Given the description of an element on the screen output the (x, y) to click on. 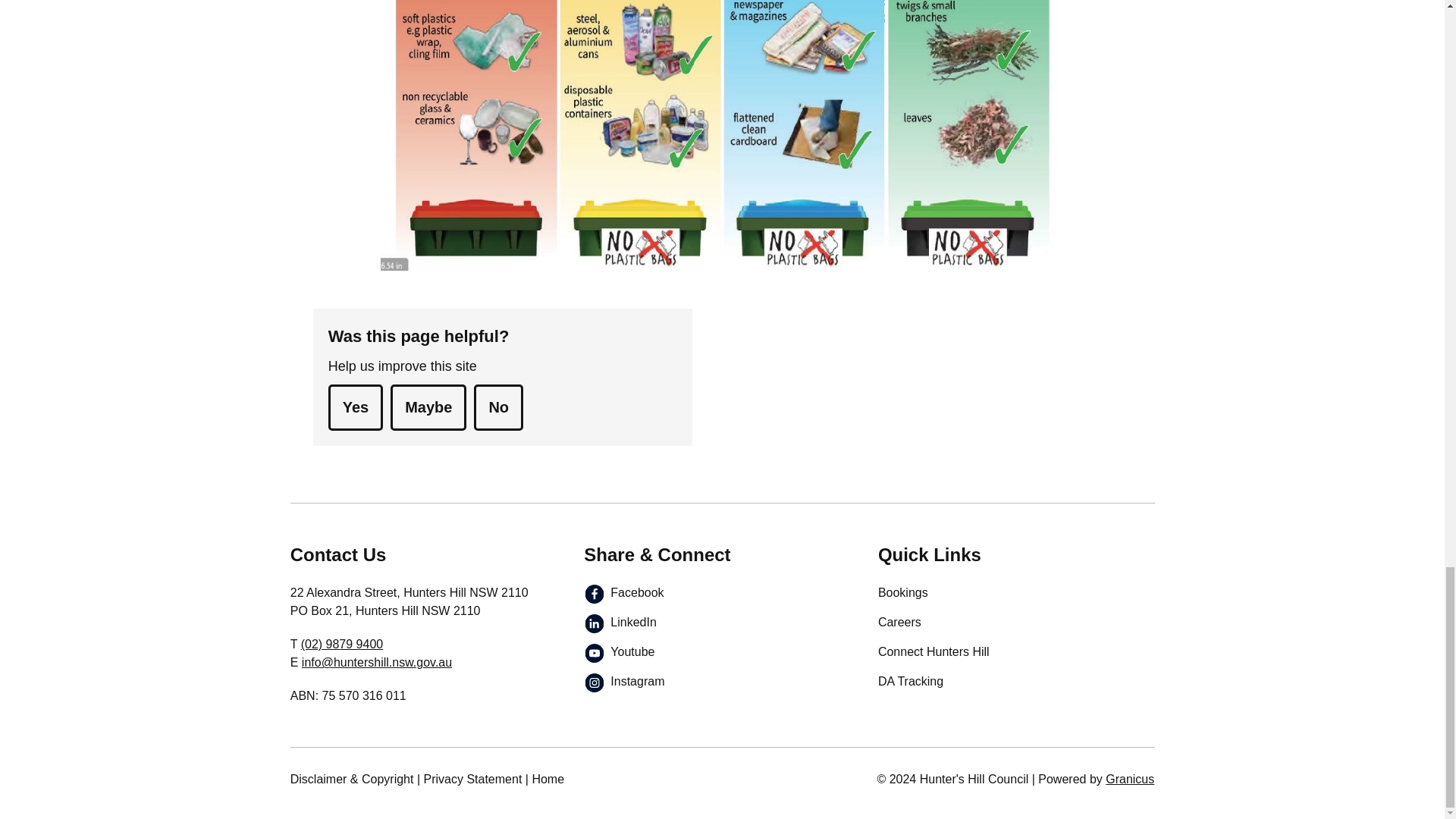
Yes (355, 407)
Maybe (427, 407)
No (498, 407)
Yes, this page was helpful (355, 407)
No, this page was not helpful (498, 407)
